Given the description of an element on the screen output the (x, y) to click on. 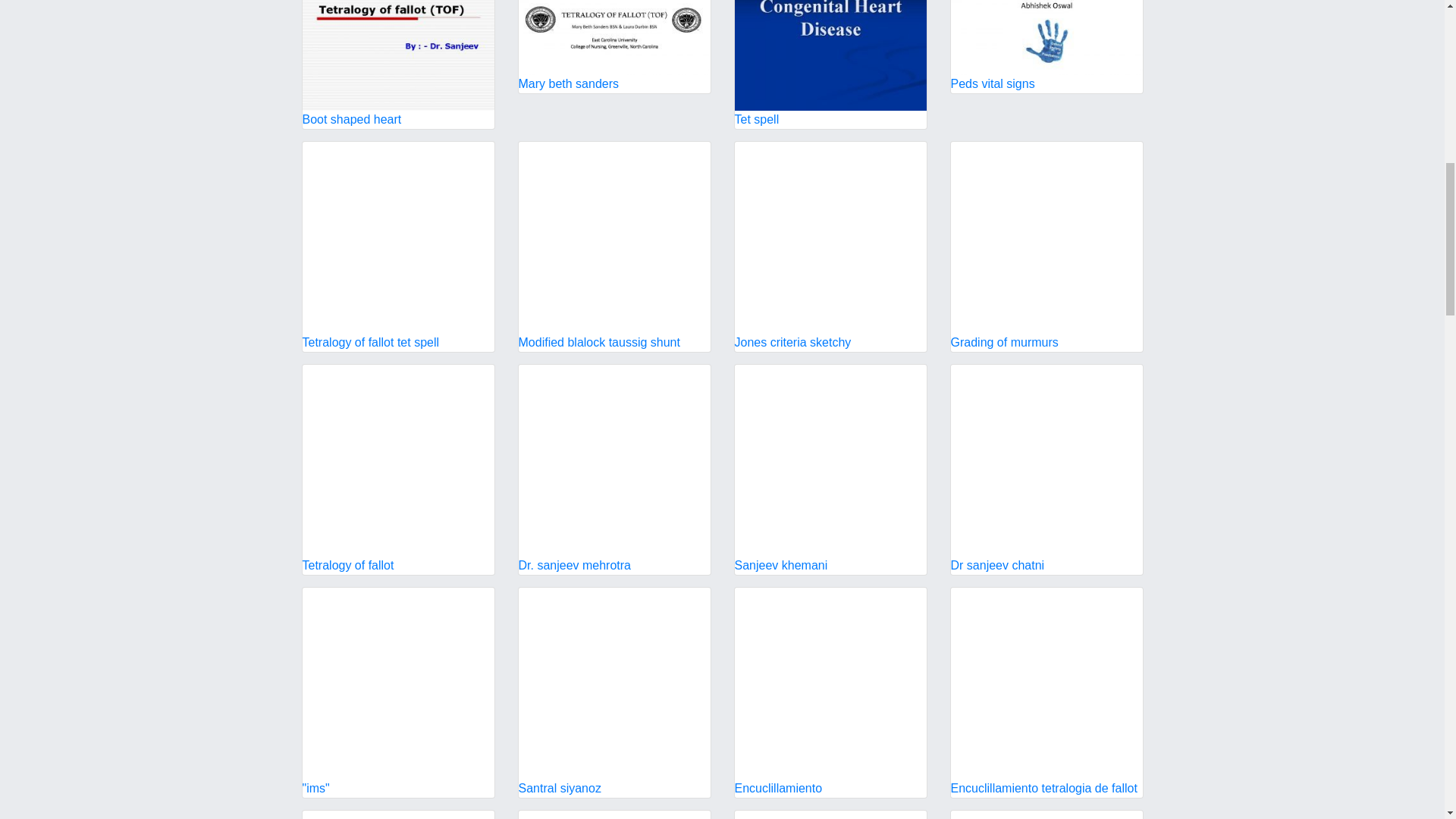
Encuclillamiento (829, 692)
Sanjeev khemani (829, 469)
Dr sanjeev chatni (1046, 469)
Tet spell (829, 64)
Tetralogy of fallot (397, 469)
Grading of murmurs (1046, 246)
Boot shaped heart (397, 64)
Santral siyanoz (614, 692)
Fallot trilogy (829, 814)
Valva mitrala inchidere incompleta (614, 814)
